Given the description of an element on the screen output the (x, y) to click on. 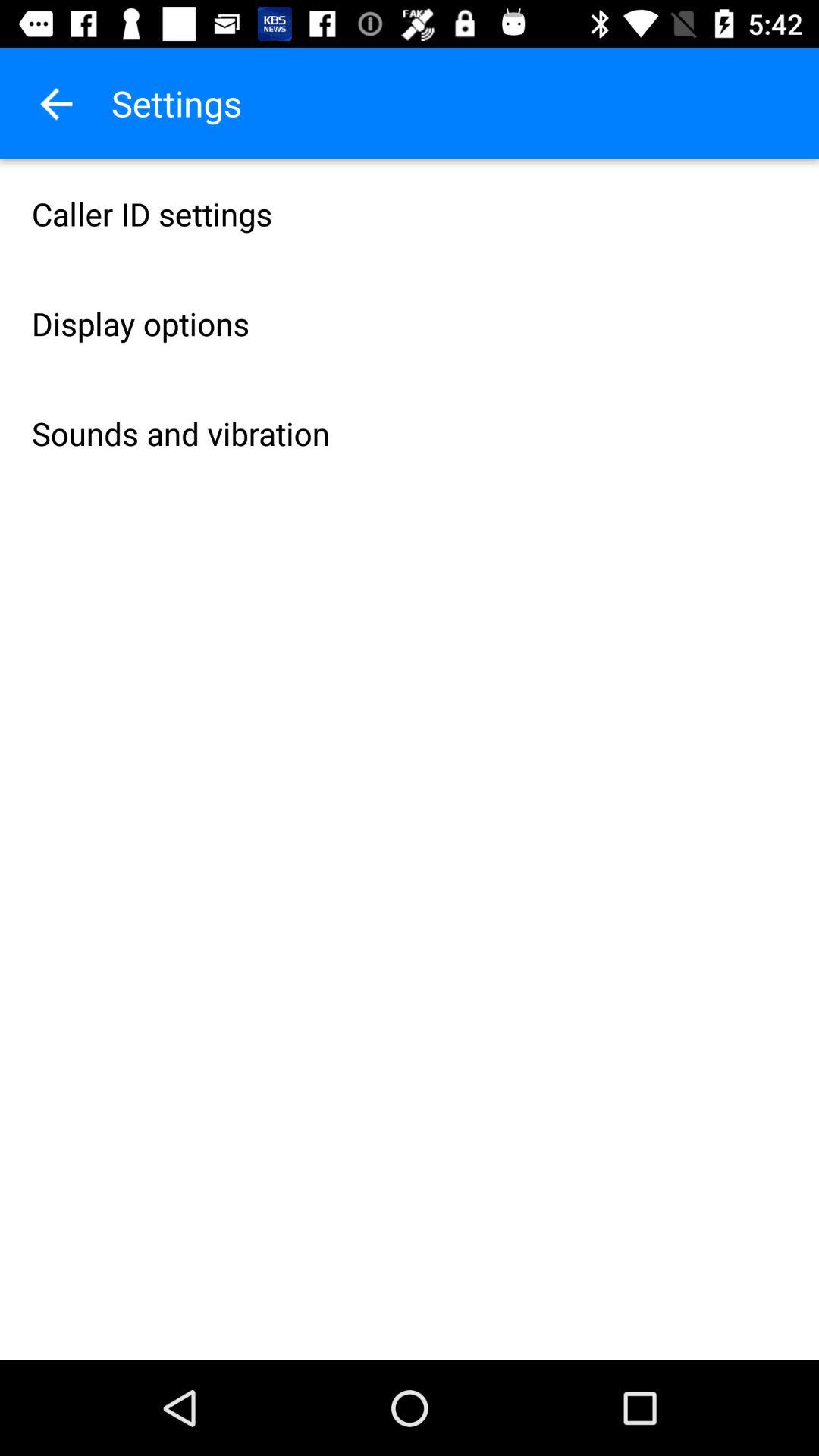
turn off icon above caller id settings (55, 103)
